Given the description of an element on the screen output the (x, y) to click on. 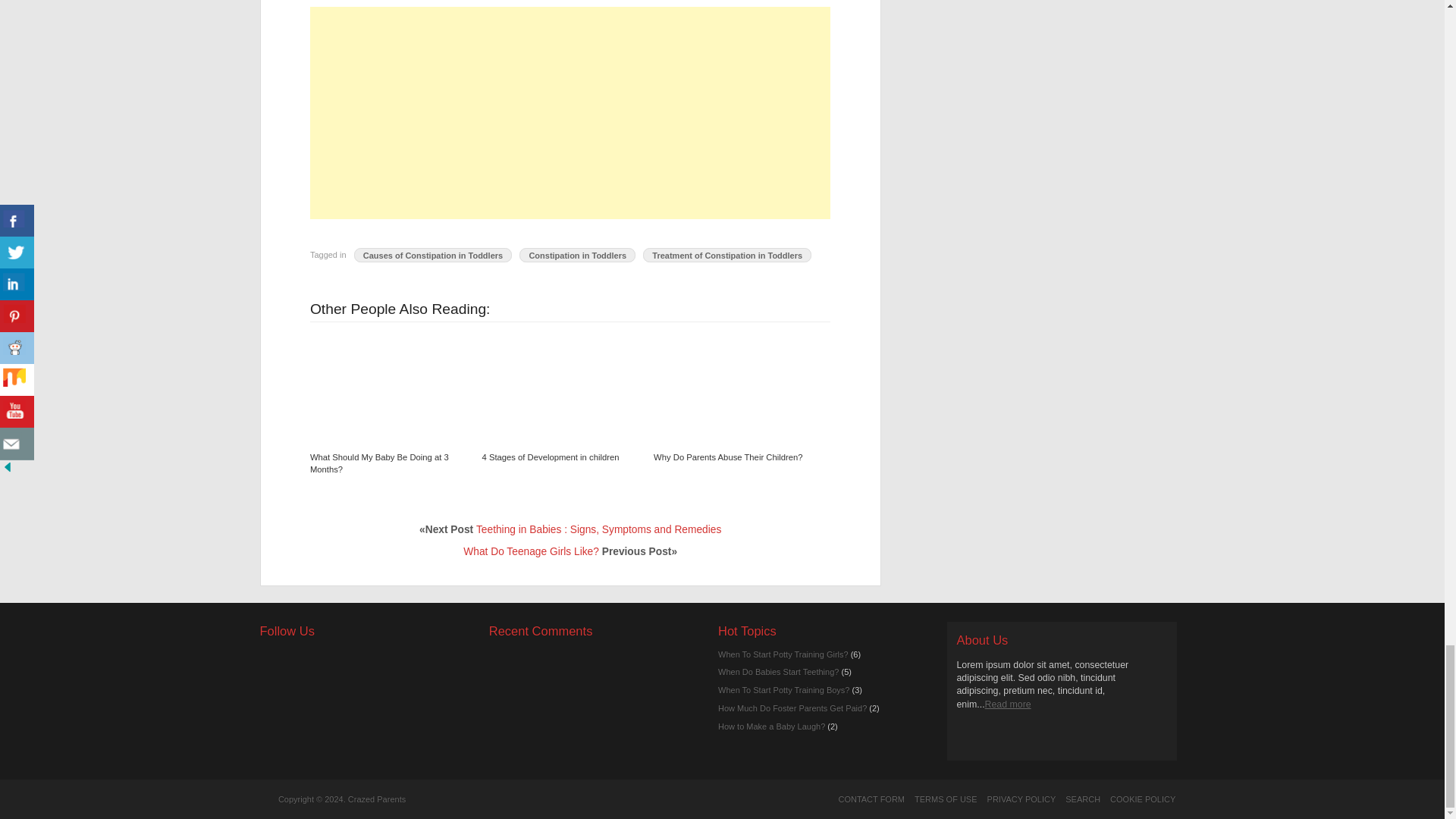
Why Do Parents Abuse Their Children? (727, 456)
4 Stages of Development in children (549, 456)
4 Stages of Development in children (557, 386)
What Do Teenage Girls Like? (530, 551)
Why Do Parents Abuse Their Children? (729, 386)
When Do Babies Start Teething? (777, 671)
What Should My Baby Be Doing at 3 Months? (379, 463)
Treatment of Constipation in Toddlers (726, 255)
What Should My Baby Be Doing at 3 Months? (379, 463)
Teething in Babies : Signs, Symptoms and Remedies (598, 529)
